Given the description of an element on the screen output the (x, y) to click on. 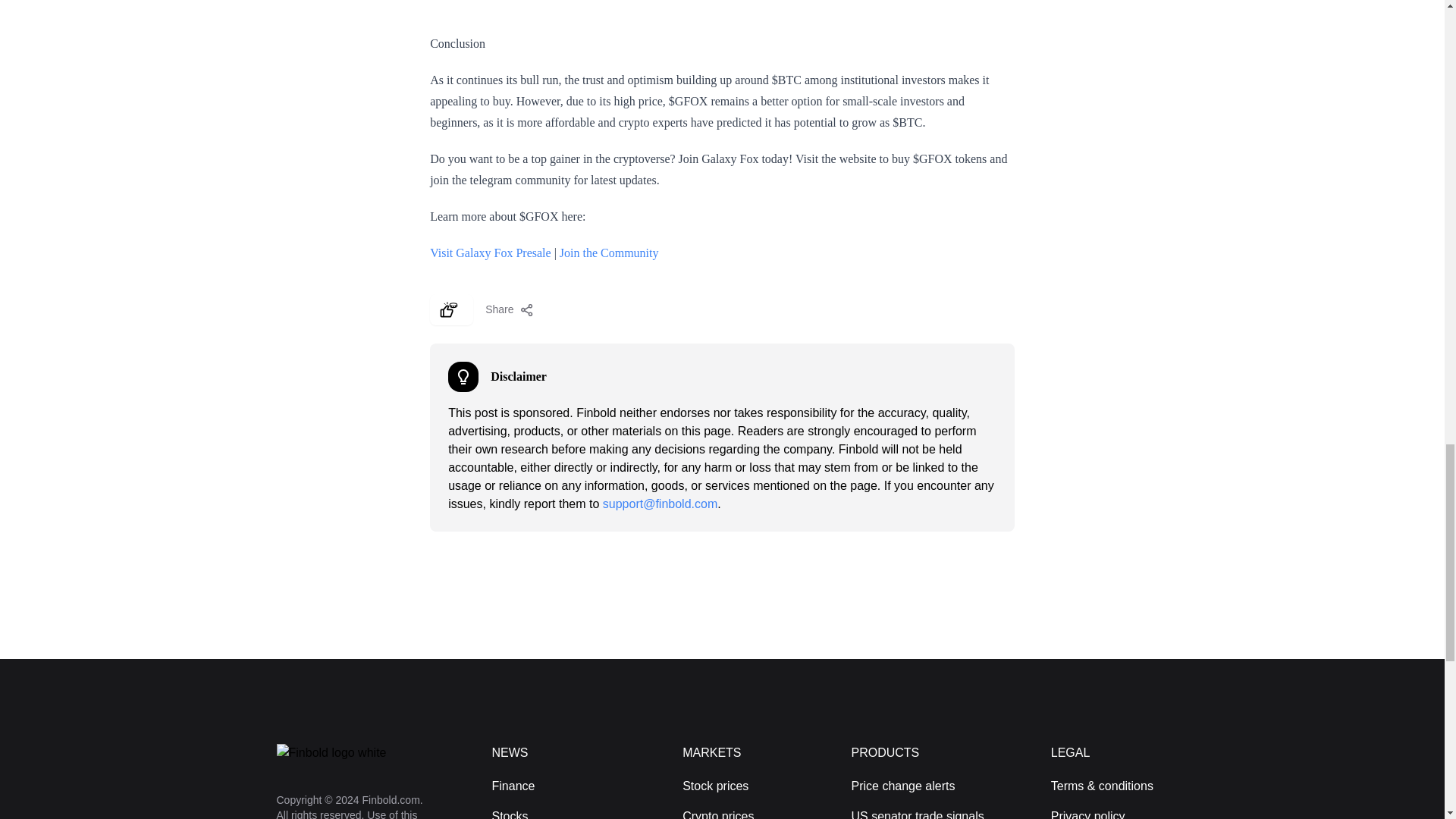
Finbold homepage (359, 752)
Finance News (513, 785)
Stocks News (509, 814)
